Given the description of an element on the screen output the (x, y) to click on. 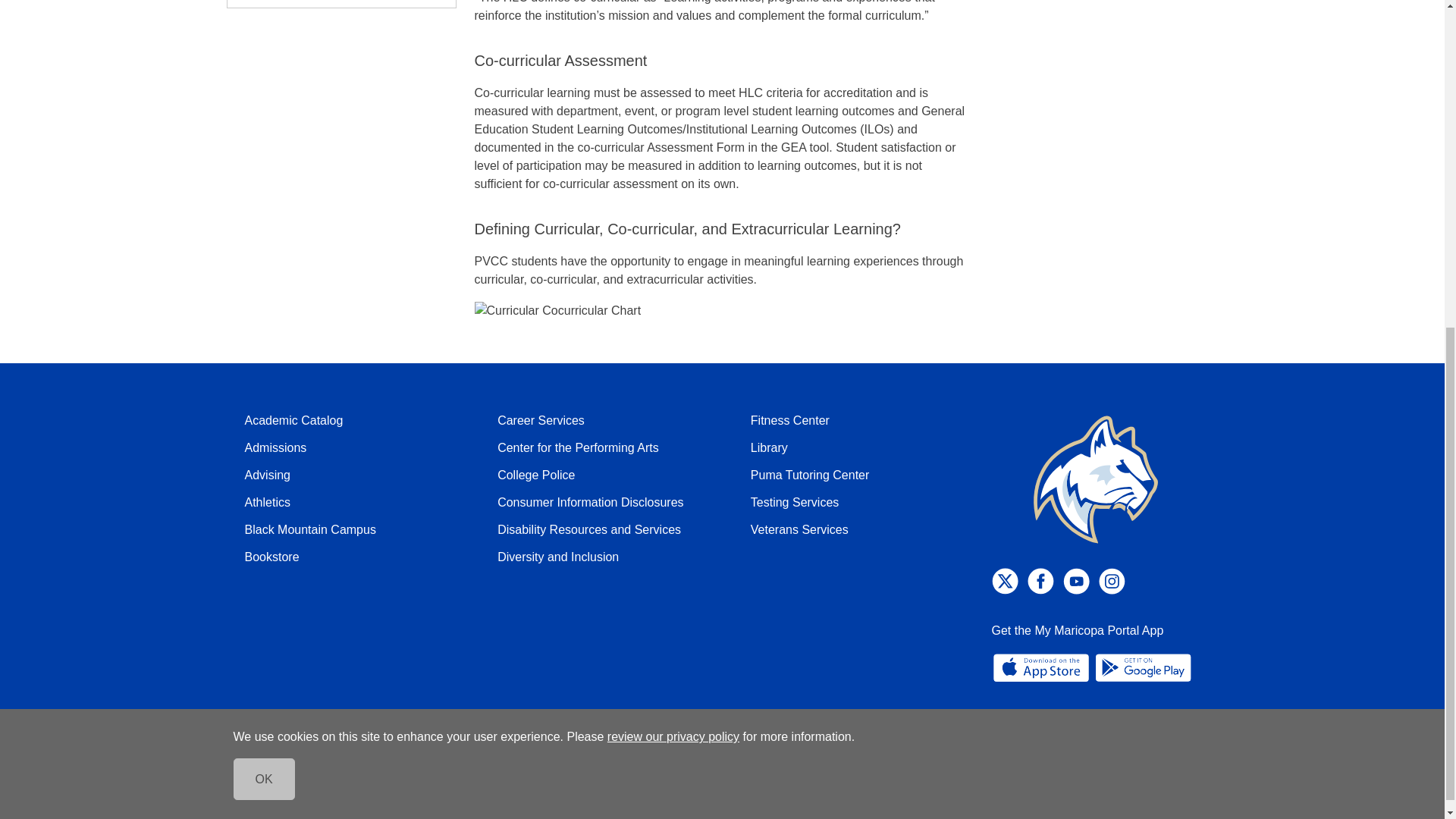
OK (263, 229)
review our privacy policy (673, 186)
Maricopa Community Colleges (315, 787)
